Given the description of an element on the screen output the (x, y) to click on. 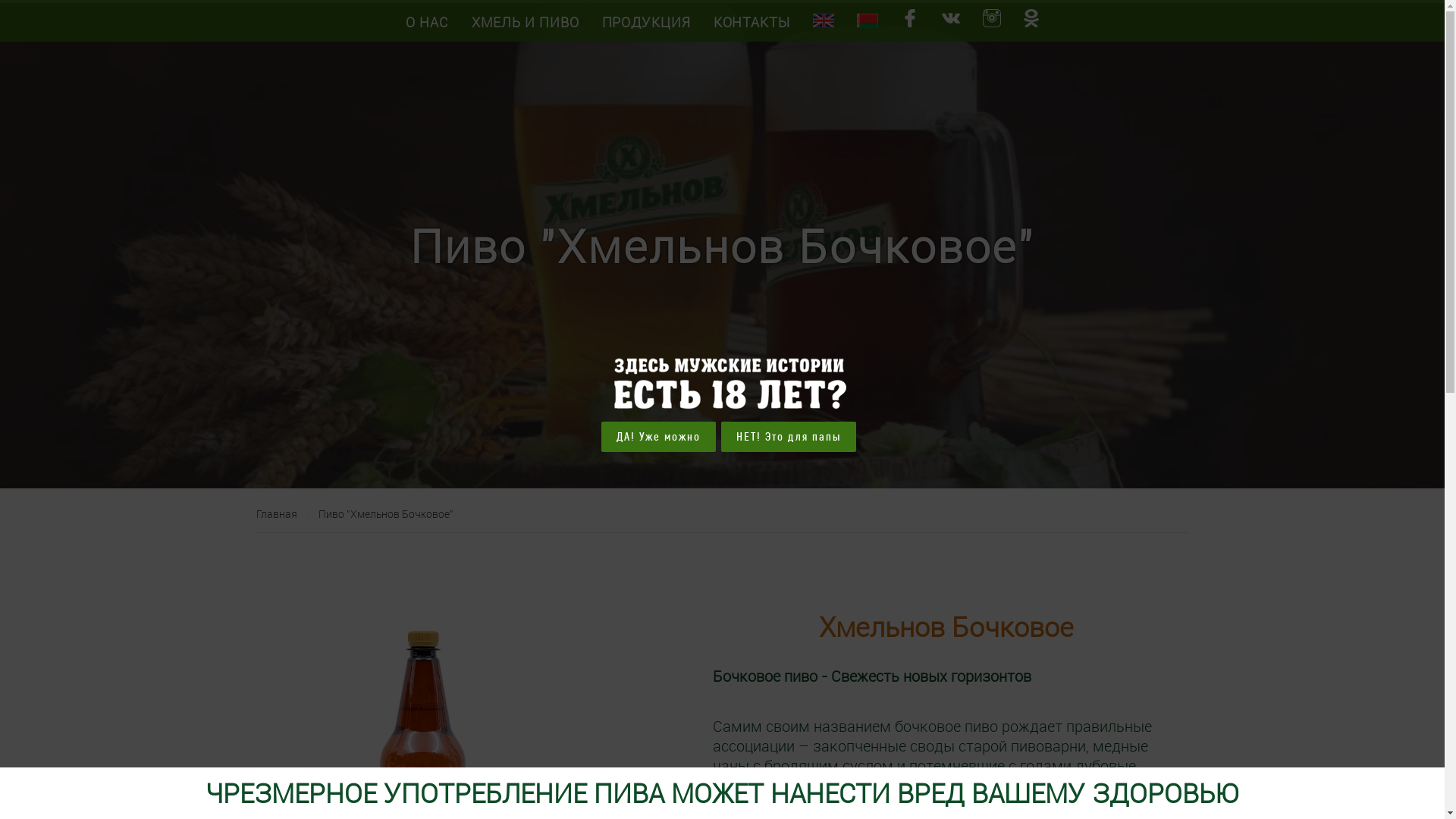
facebook  Element type: hover (909, 21)
